Given the description of an element on the screen output the (x, y) to click on. 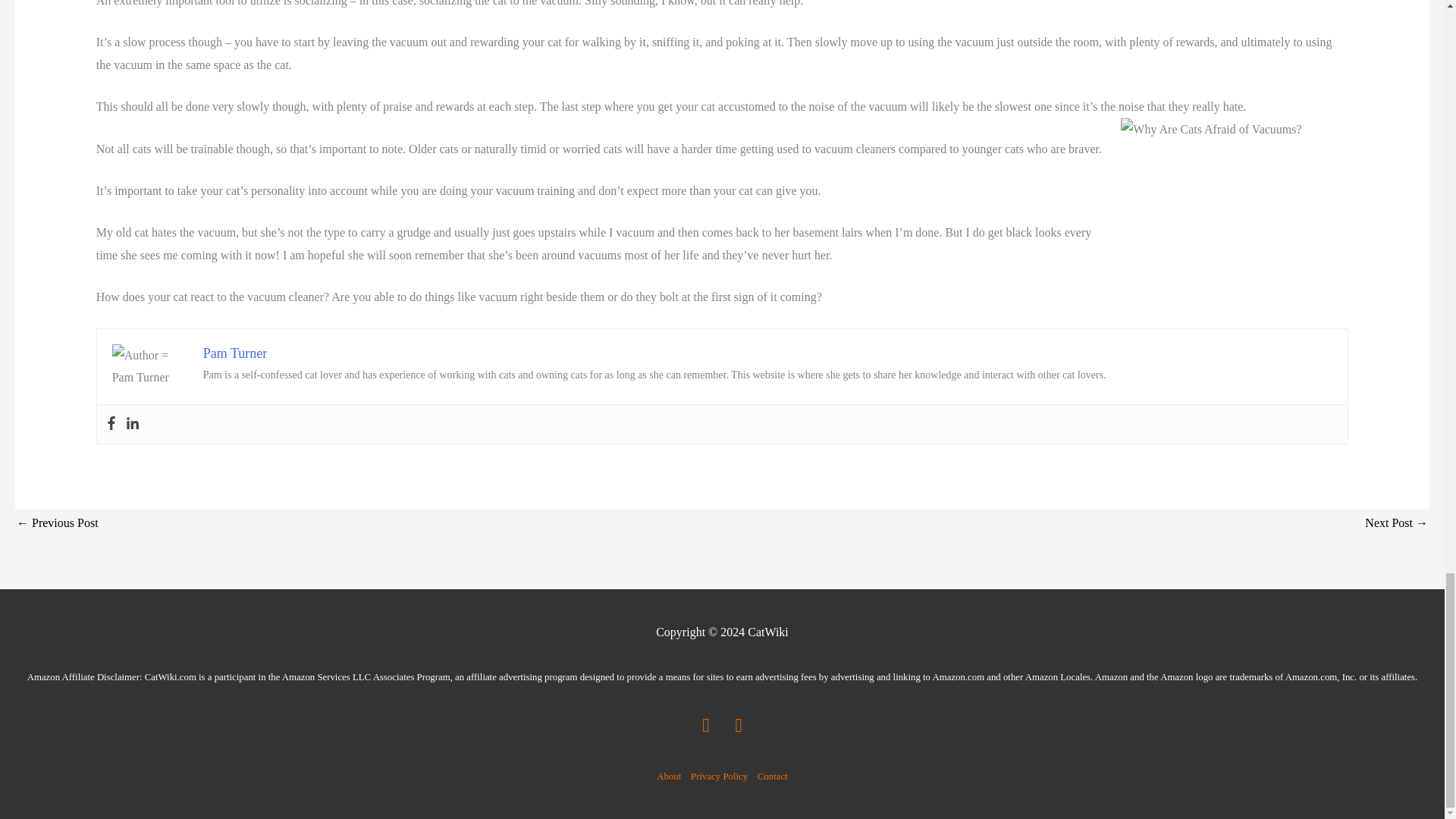
Can Cats and Ducks Live Together? (1396, 524)
About (670, 775)
Pam Turner (235, 353)
Why are Cats Scared of Thunder? (57, 524)
Privacy Policy (718, 775)
